Given the description of an element on the screen output the (x, y) to click on. 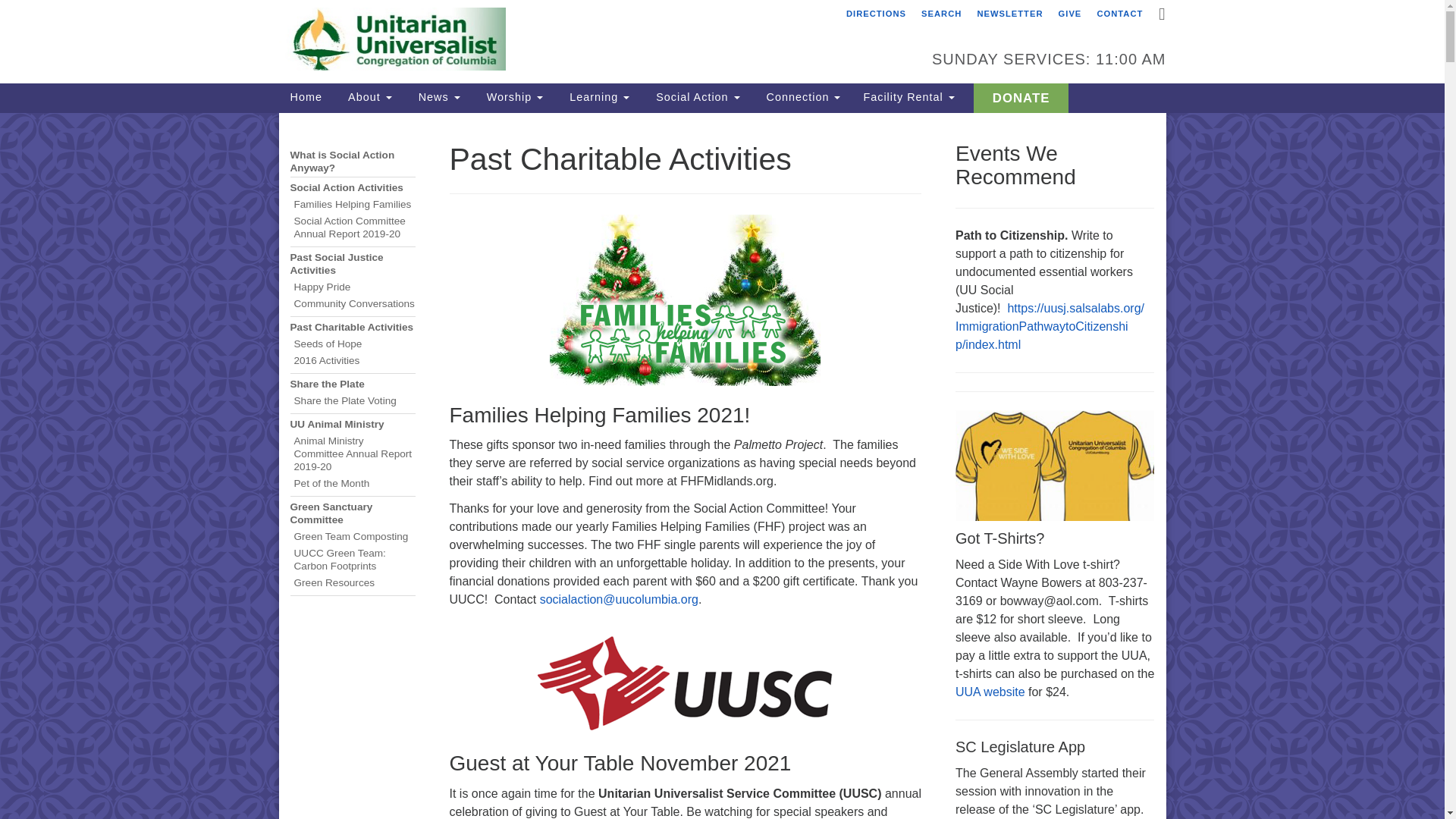
SEARCH (940, 13)
GIVE (1069, 13)
 About (368, 96)
NEWSLETTER (1009, 13)
Home (306, 96)
 News (437, 96)
About (368, 96)
Home (306, 96)
News (437, 96)
